Given the description of an element on the screen output the (x, y) to click on. 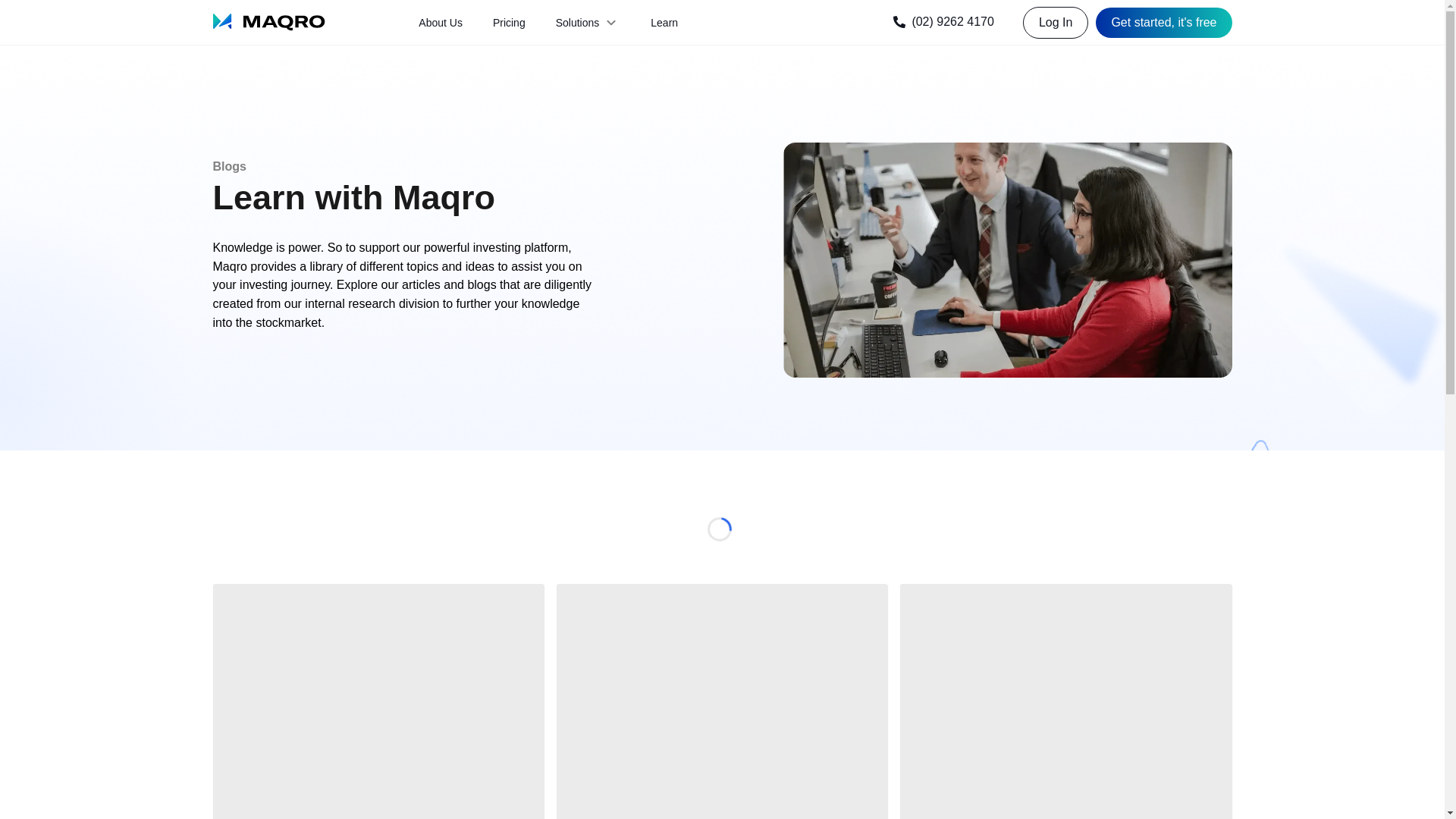
Get started, it's free Element type: text (1163, 22)
Maqro Element type: text (268, 21)
Solutions Element type: text (588, 22)
Learn Element type: text (663, 22)
Log In Element type: text (1055, 21)
About Us Element type: text (440, 22)
(02) 9262 4170 Element type: text (946, 21)
Pricing Element type: text (508, 22)
